Given the description of an element on the screen output the (x, y) to click on. 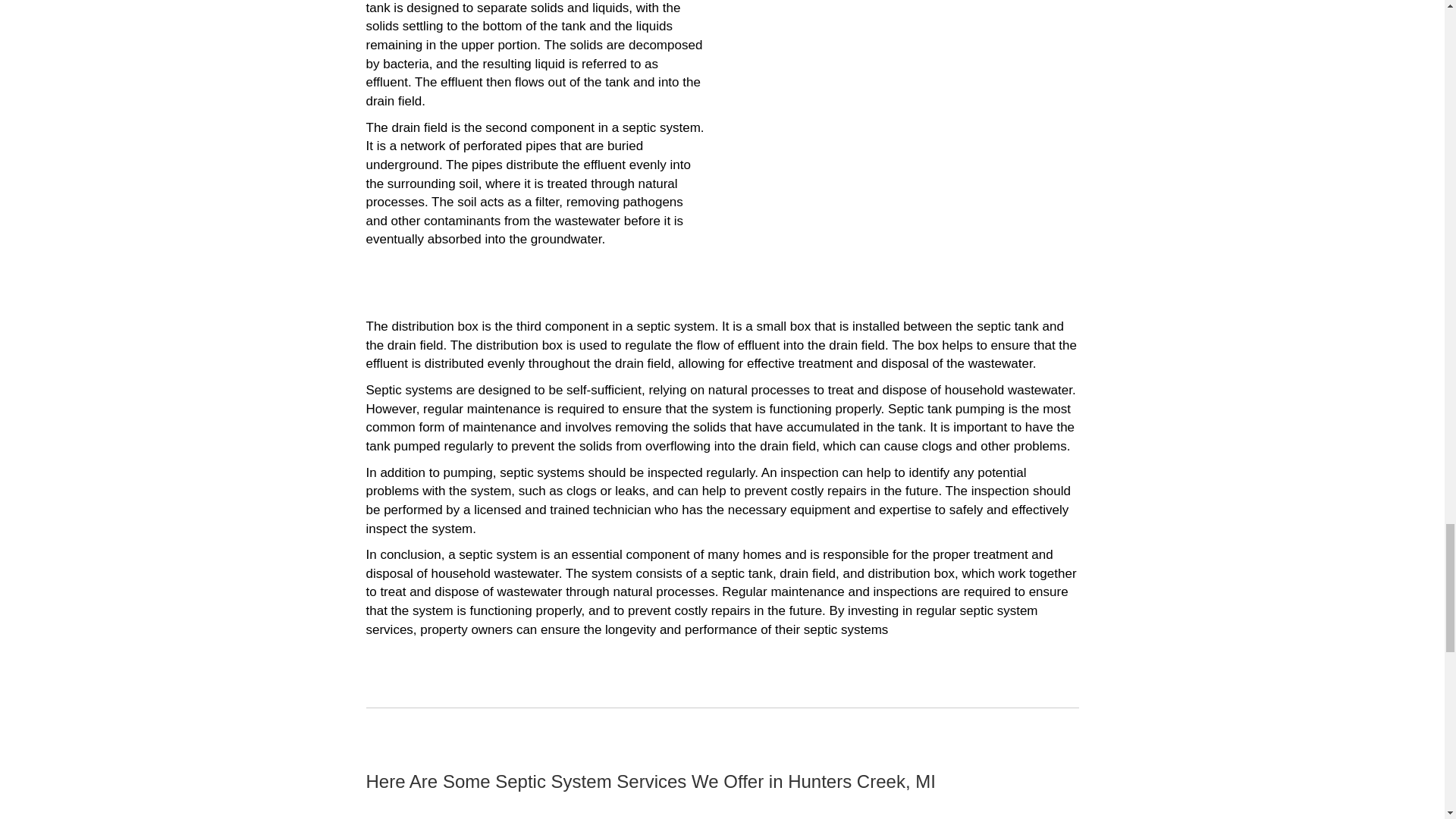
Pump Truck At Customers House (907, 32)
